Given the description of an element on the screen output the (x, y) to click on. 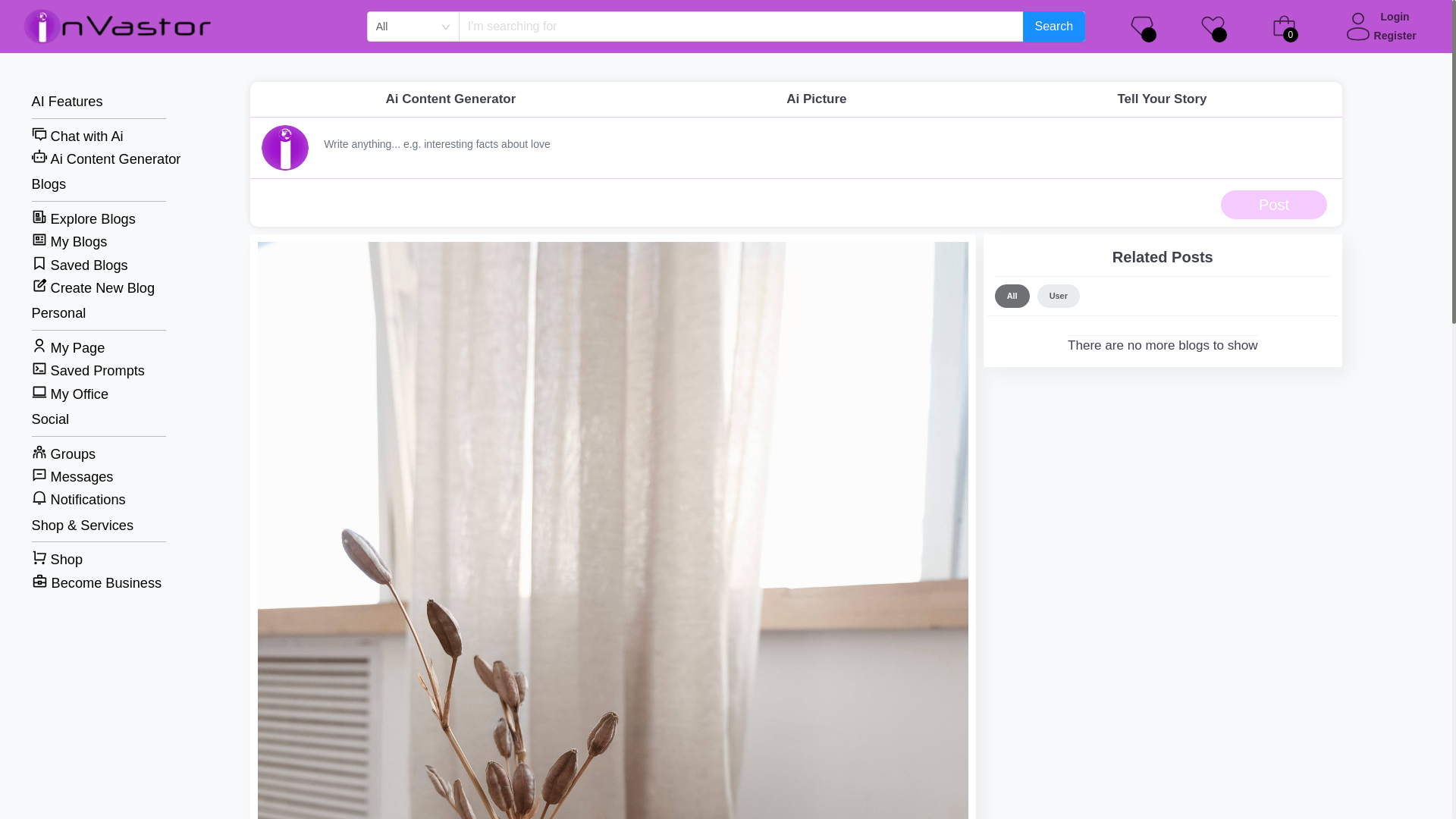
Saved Prompts (106, 371)
Groups (106, 454)
Explore Blogs (106, 219)
Register (1395, 35)
Messages (106, 476)
Search (1054, 26)
Shop (106, 559)
Ai Content Generator (106, 159)
There are no more blogs to show (1162, 339)
My Office (106, 394)
